Given the description of an element on the screen output the (x, y) to click on. 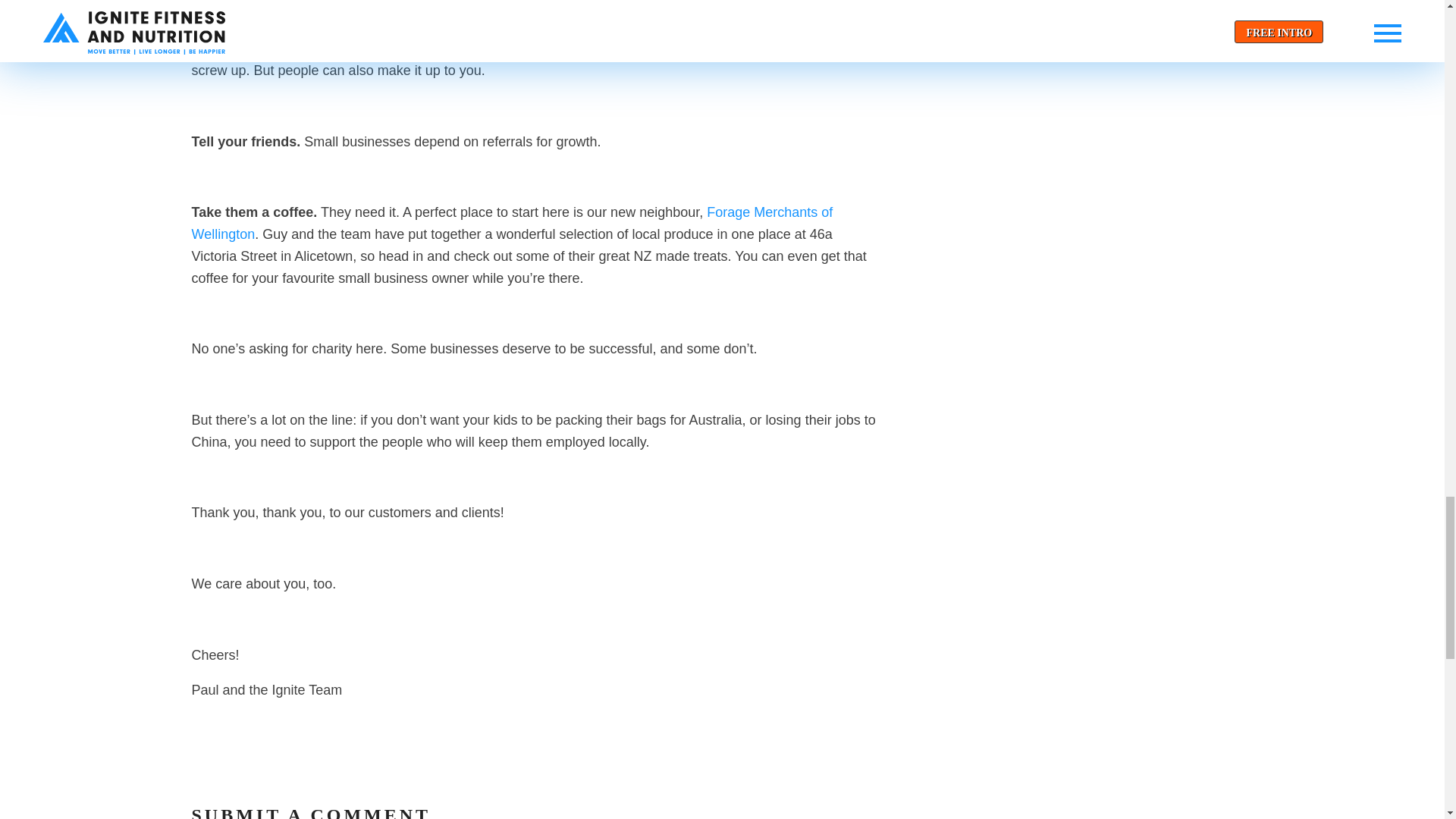
Forage Merchants of Wellington (511, 222)
